Given the description of an element on the screen output the (x, y) to click on. 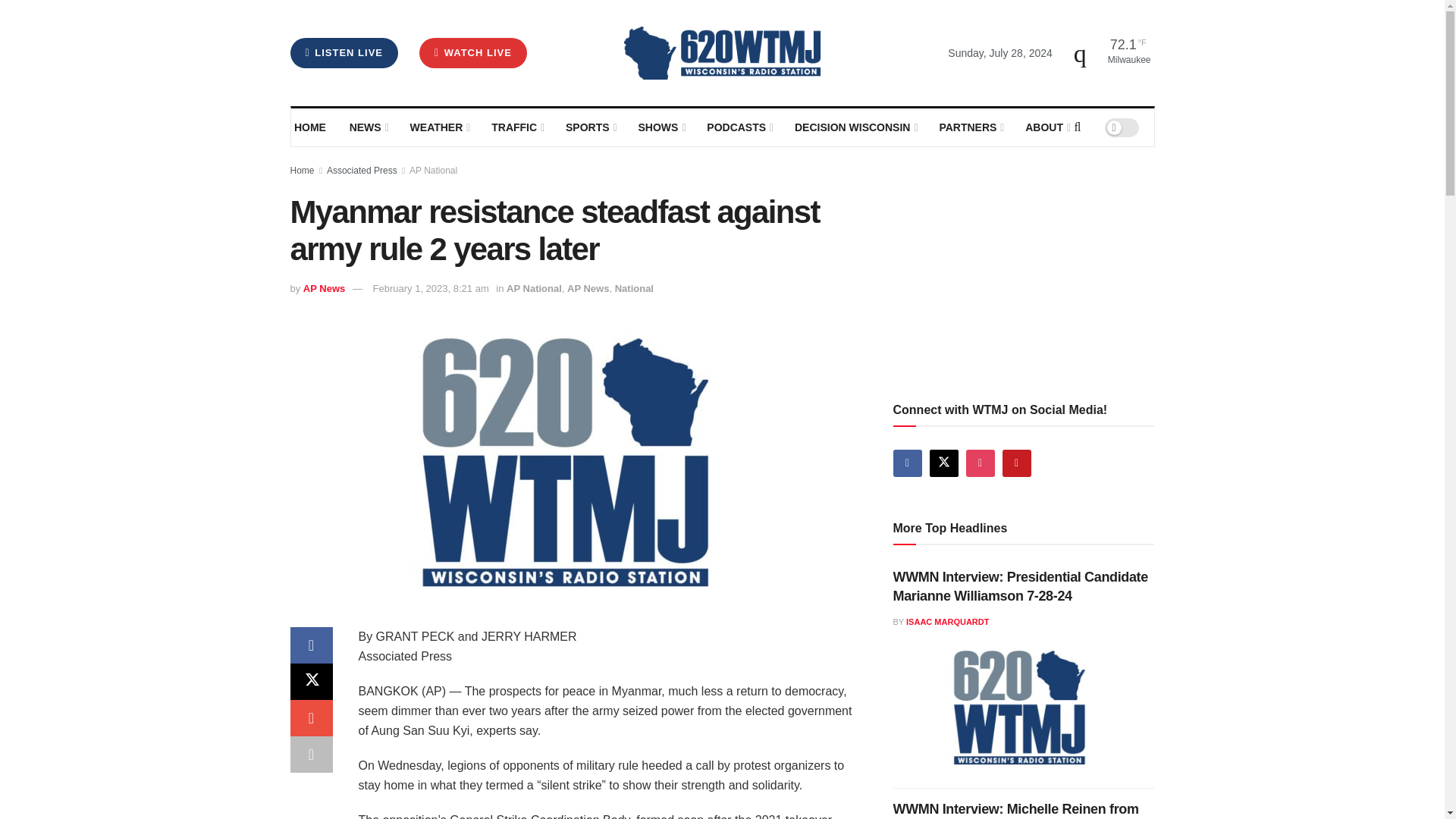
NEWS (368, 127)
SPORTS (589, 127)
HOME (310, 127)
WEATHER (438, 127)
TRAFFIC (516, 127)
3rd party ad content (1007, 271)
WATCH LIVE (473, 52)
LISTEN LIVE (343, 52)
